Given the description of an element on the screen output the (x, y) to click on. 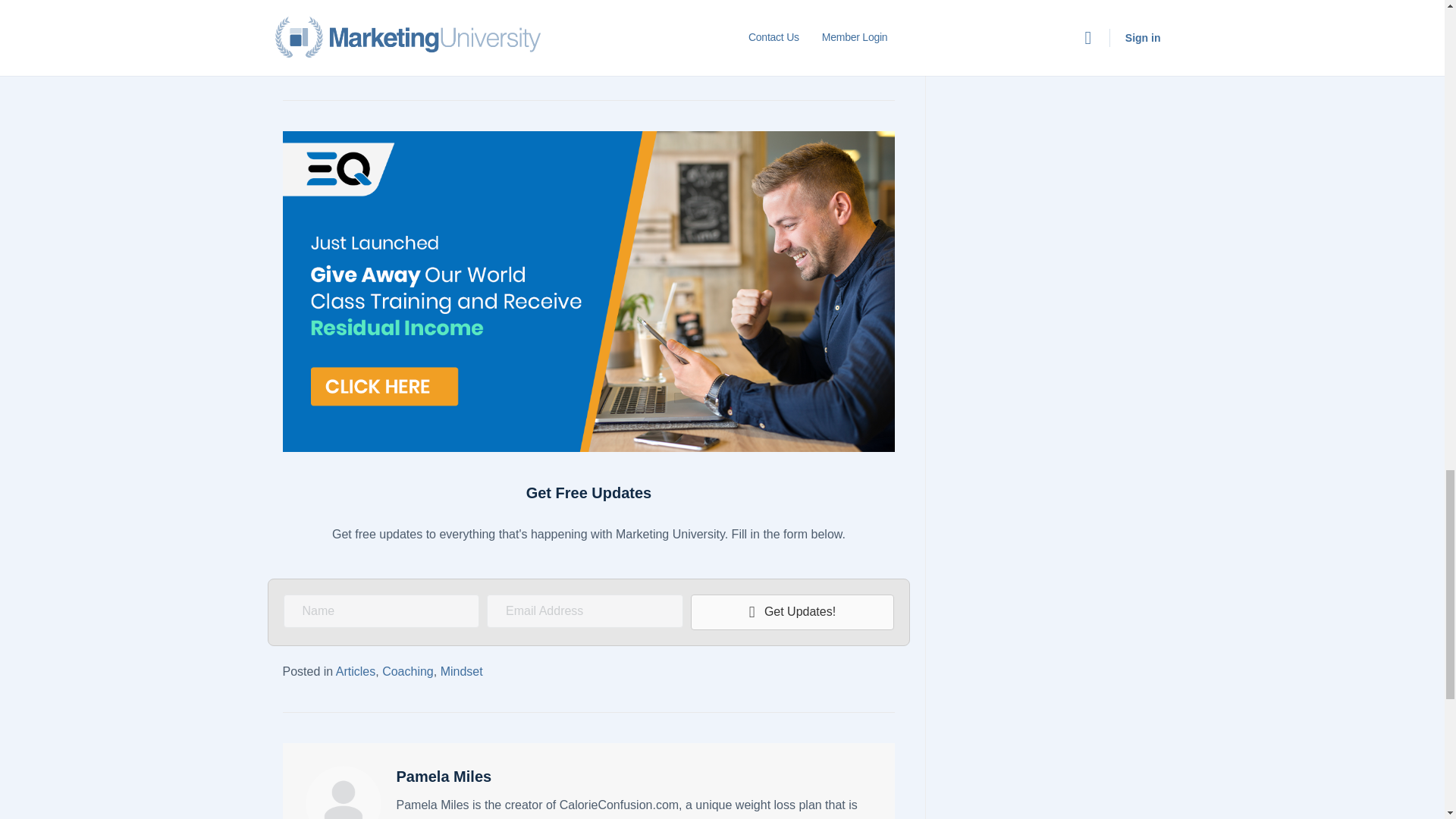
Coaching (407, 671)
Get Updates! (792, 611)
Click Here For Part Two (705, 23)
Click Here For Part One (378, 23)
Mindset (462, 671)
Articles (355, 671)
